Given the description of an element on the screen output the (x, y) to click on. 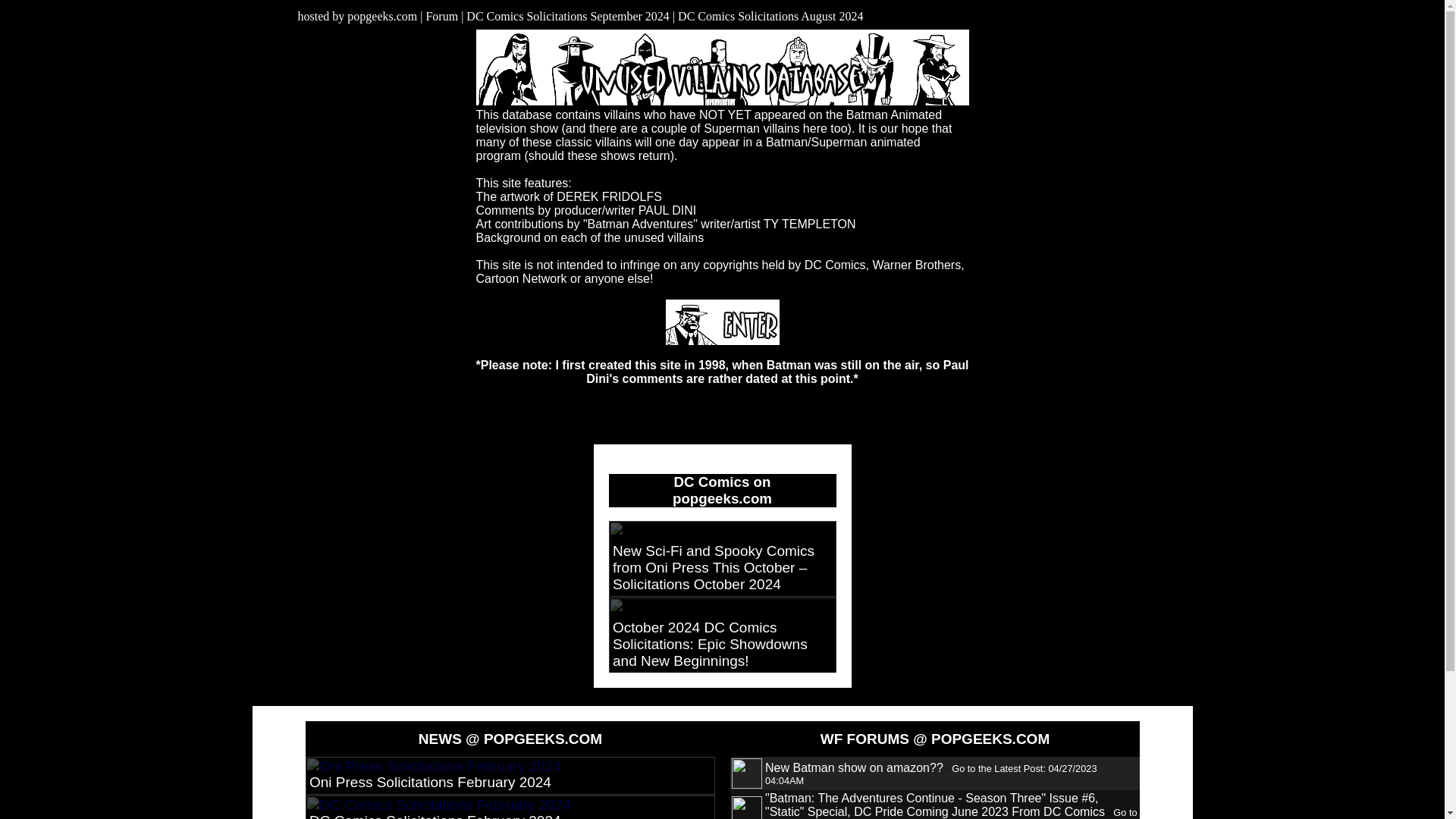
hosted by popgeeks.com (356, 15)
DC Comics Solicitations September 2024 (565, 15)
DC Comics Solicitations August 2024 (767, 15)
